Given the description of an element on the screen output the (x, y) to click on. 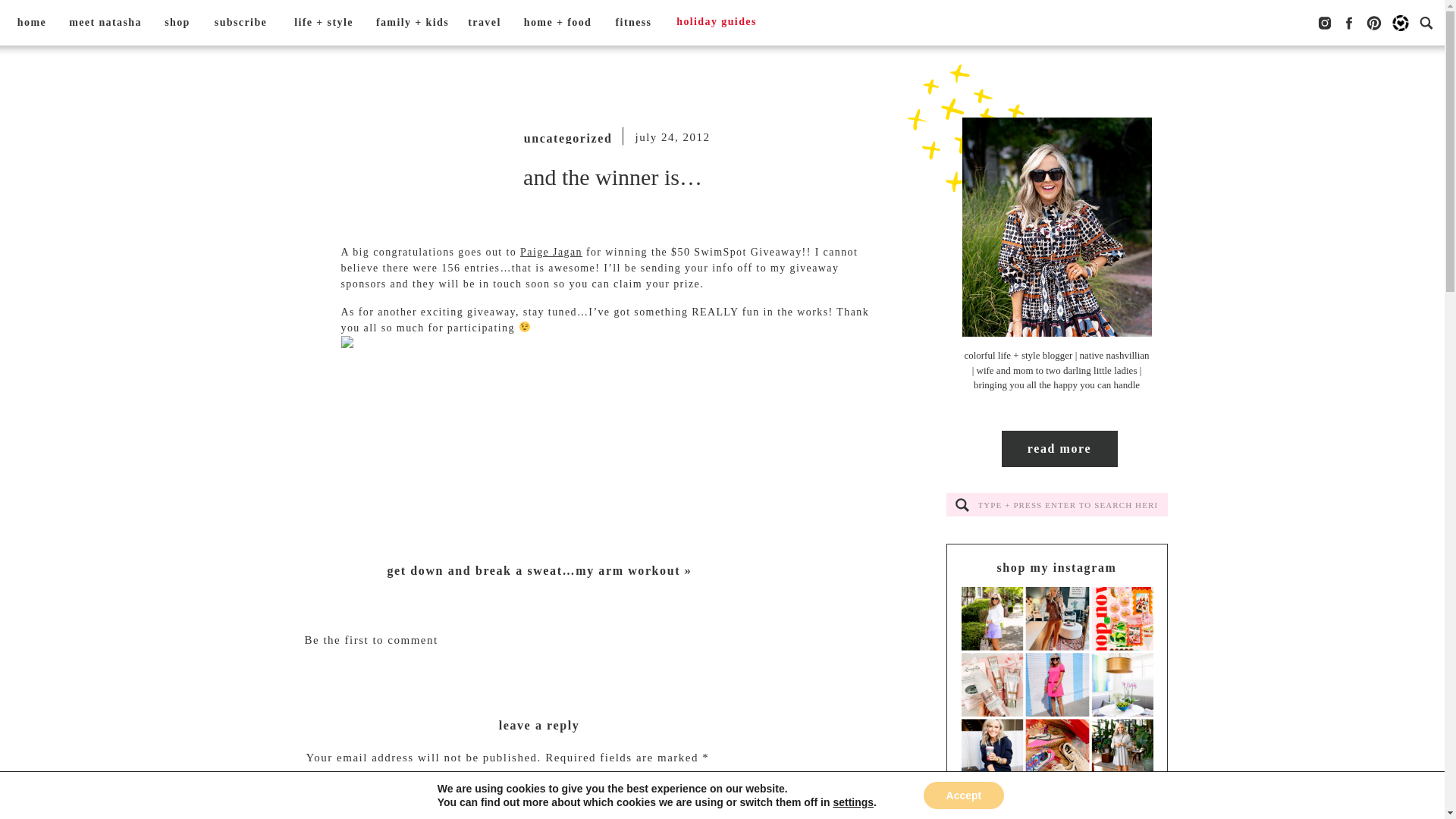
meet natasha (105, 22)
home (31, 22)
fitness (633, 22)
holiday guides (716, 22)
travel (483, 22)
shop (176, 22)
subscribe (240, 22)
